Given the description of an element on the screen output the (x, y) to click on. 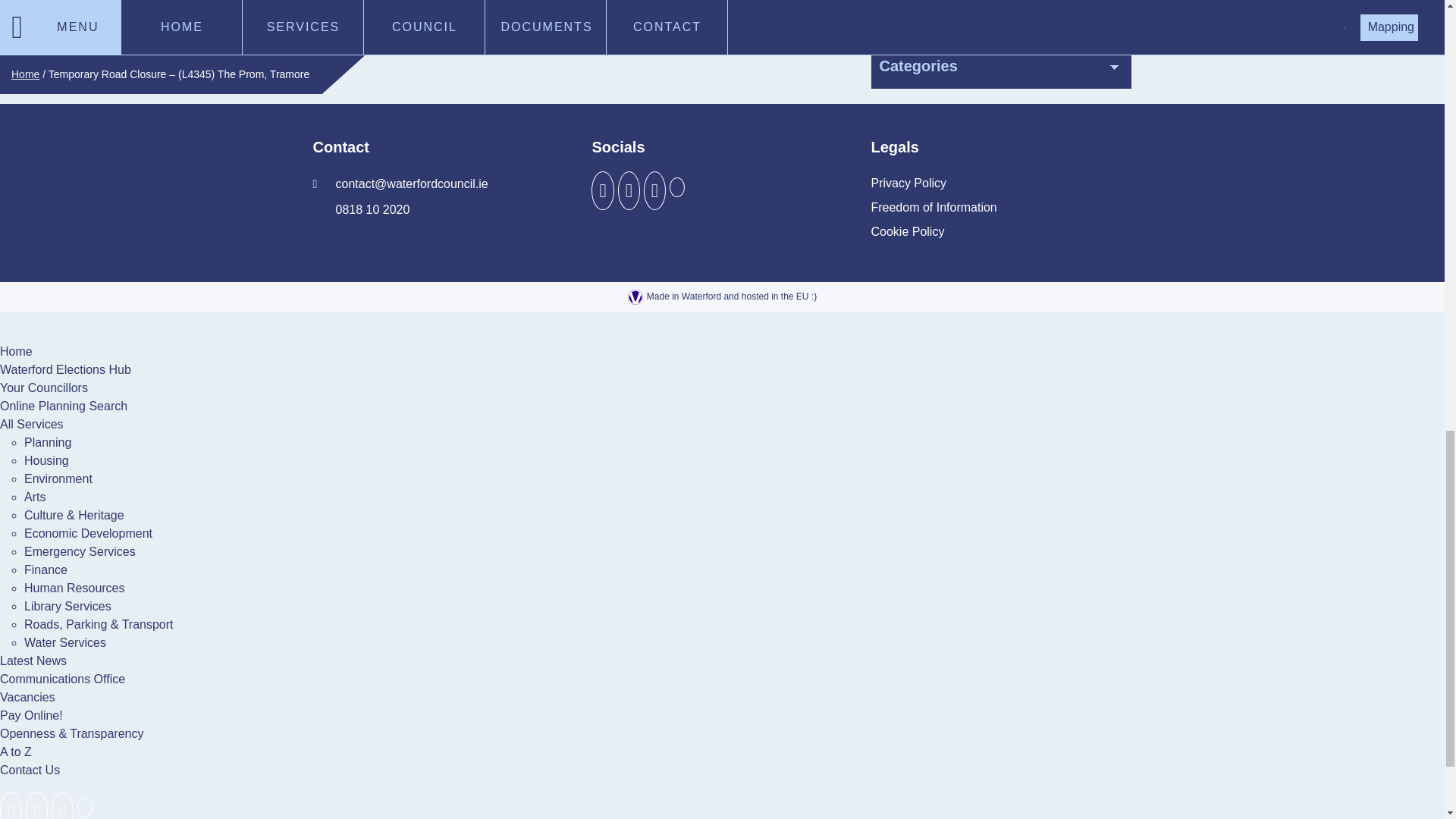
0818 10 2020 (361, 209)
Cookie Policy (906, 232)
Freedom of Information (932, 207)
Privacy Policy (908, 183)
